Given the description of an element on the screen output the (x, y) to click on. 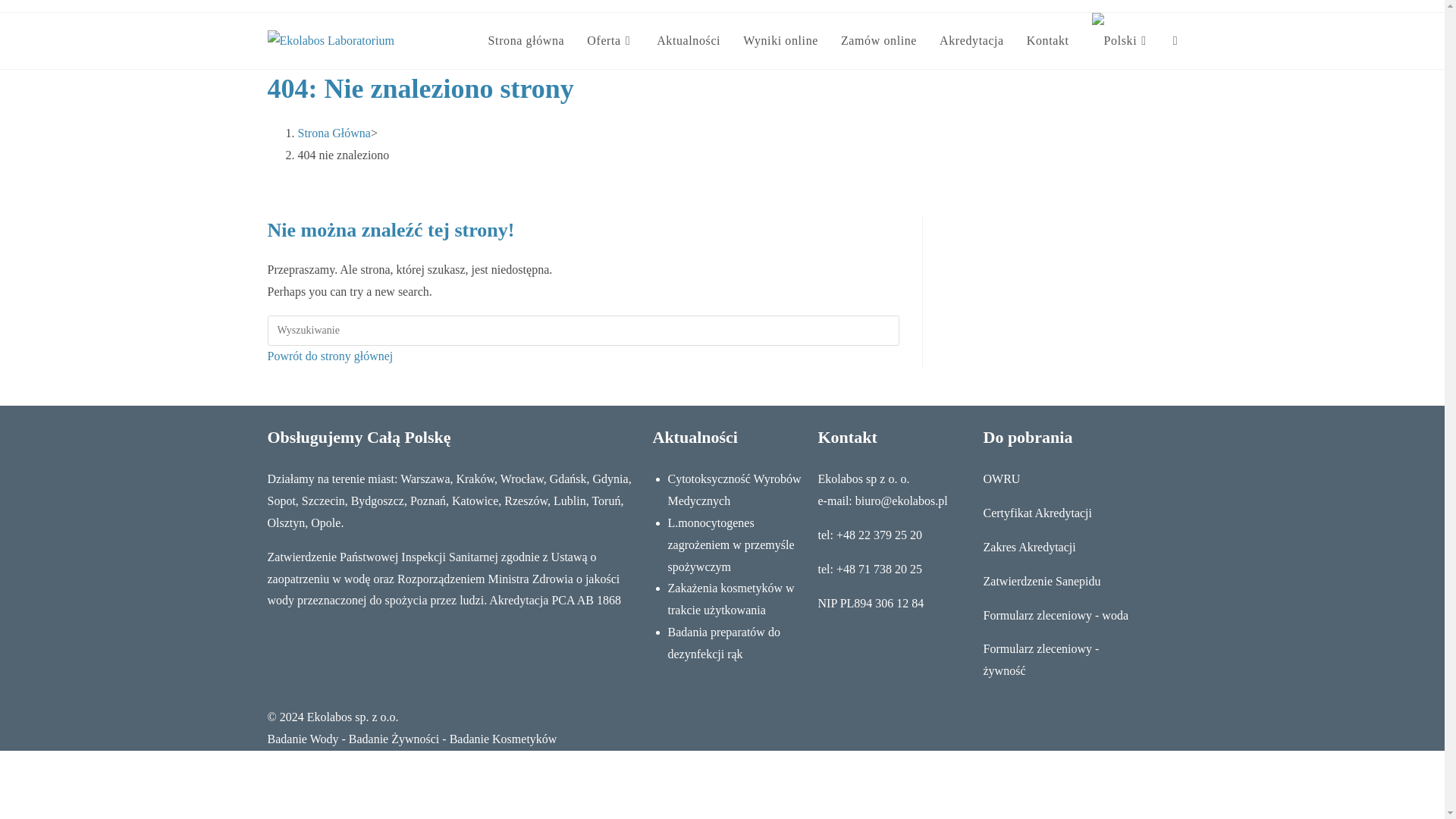
Oferta (610, 40)
Wyniki online (780, 40)
